Given the description of an element on the screen output the (x, y) to click on. 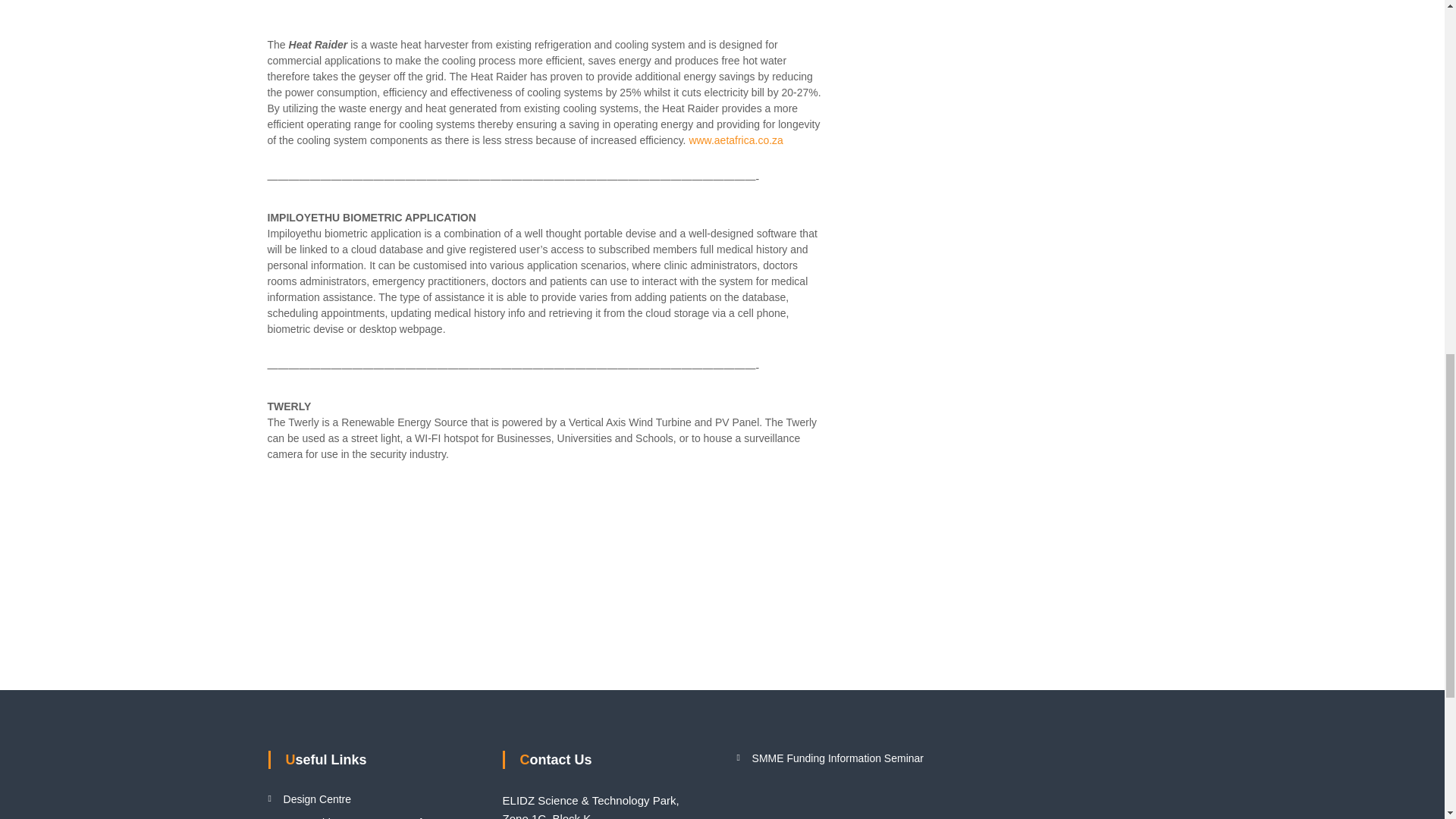
www.aetafrica.co.za (735, 140)
Design Centre (317, 799)
SMME Funding Information Seminar (837, 758)
Renewable Energy Centre Of Excellence (352, 817)
